Given the description of an element on the screen output the (x, y) to click on. 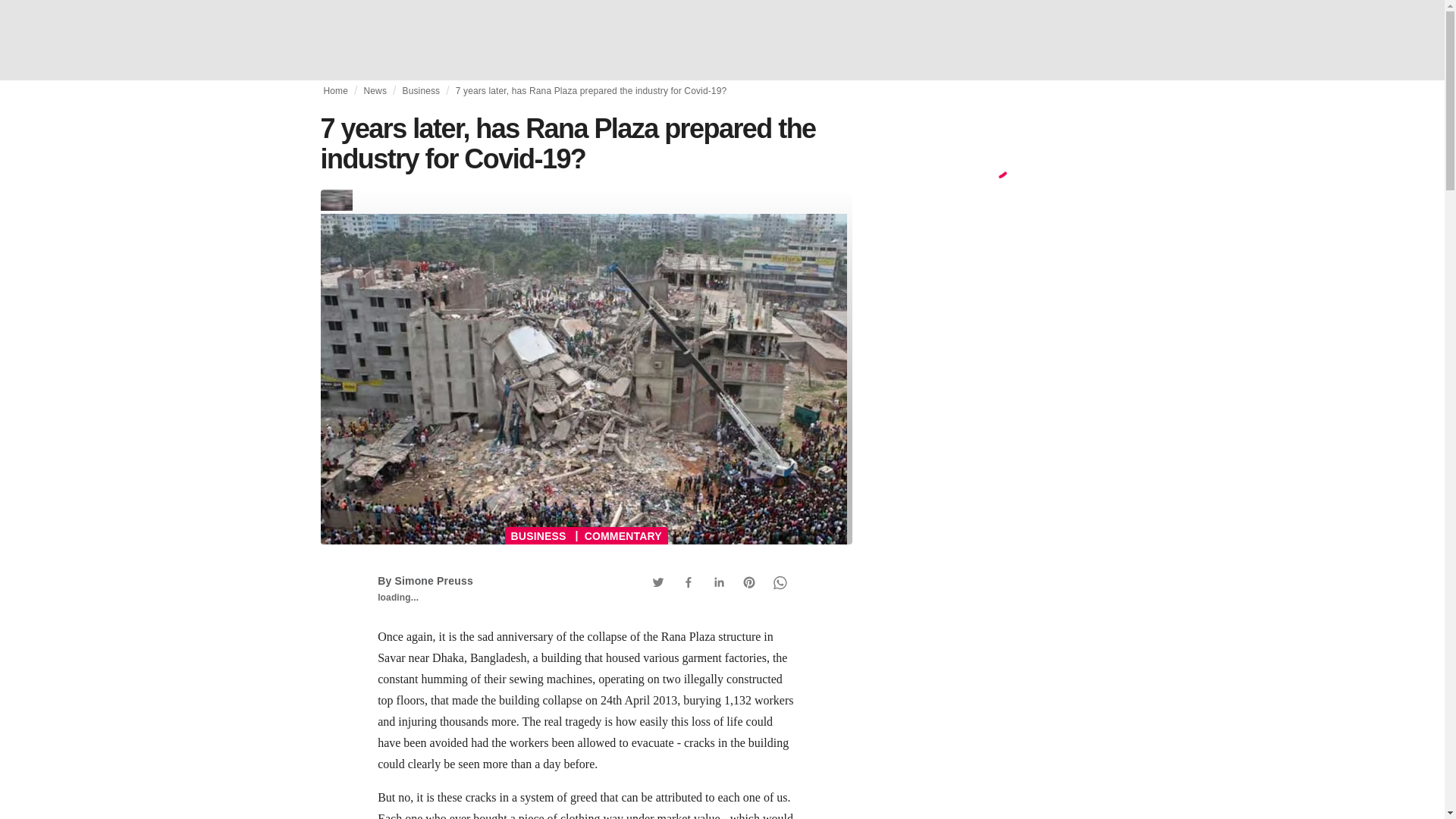
News (375, 90)
Home (335, 90)
By Simone Preuss (425, 580)
Business (420, 90)
